Given the description of an element on the screen output the (x, y) to click on. 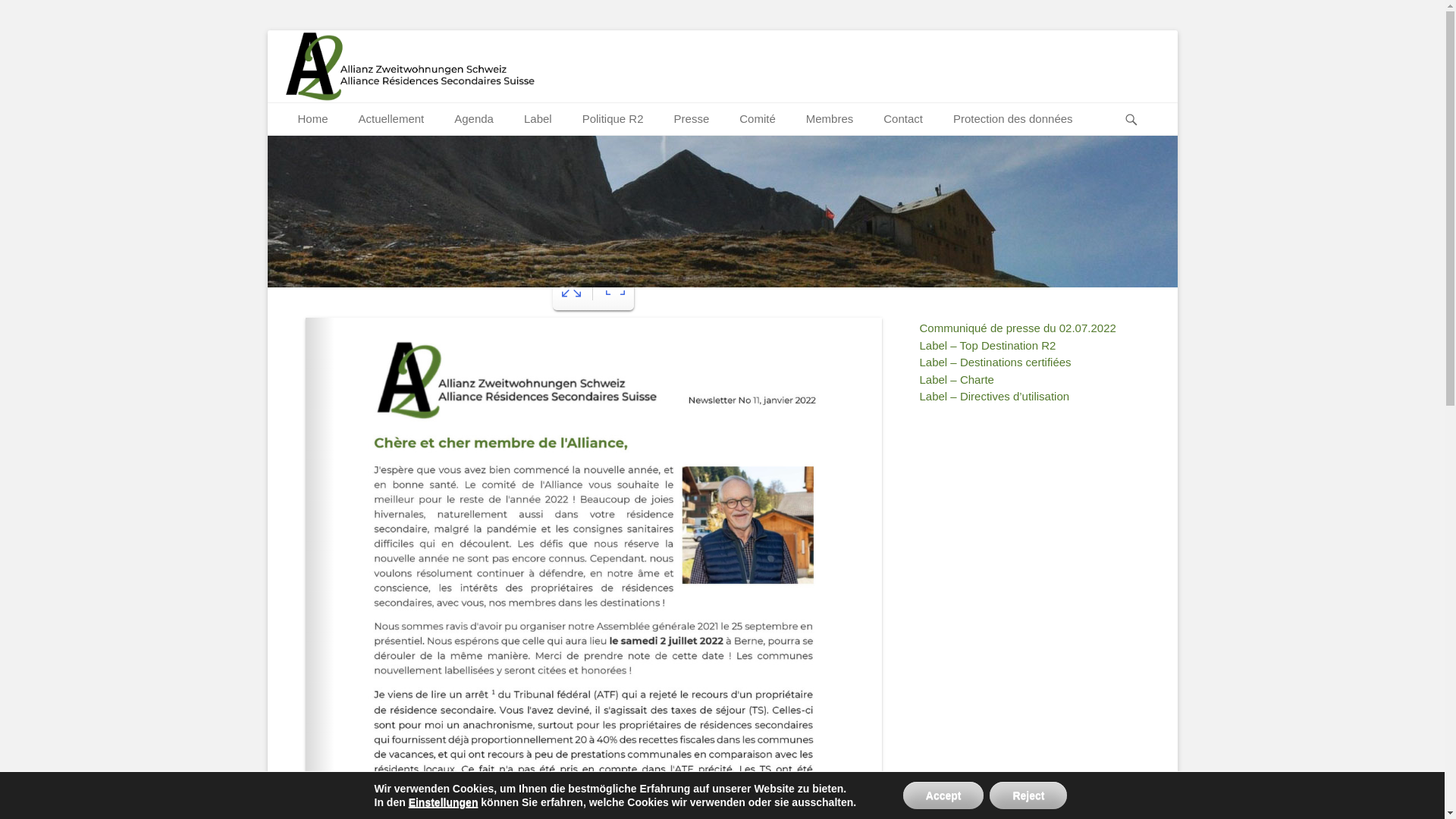
Accept Element type: text (943, 795)
Recherche Element type: text (1139, 103)
Home Element type: text (312, 119)
Label Element type: text (537, 119)
Einstellungen Element type: text (443, 802)
Contact Element type: text (903, 119)
Actuellement Element type: text (391, 119)
Politique R2 Element type: text (612, 119)
Agenda Element type: text (473, 119)
Membres Element type: text (829, 119)
Presse Element type: text (691, 119)
Reject Element type: text (1027, 795)
Newsletter 11 (PDF Download) Element type: text (379, 208)
